Given the description of an element on the screen output the (x, y) to click on. 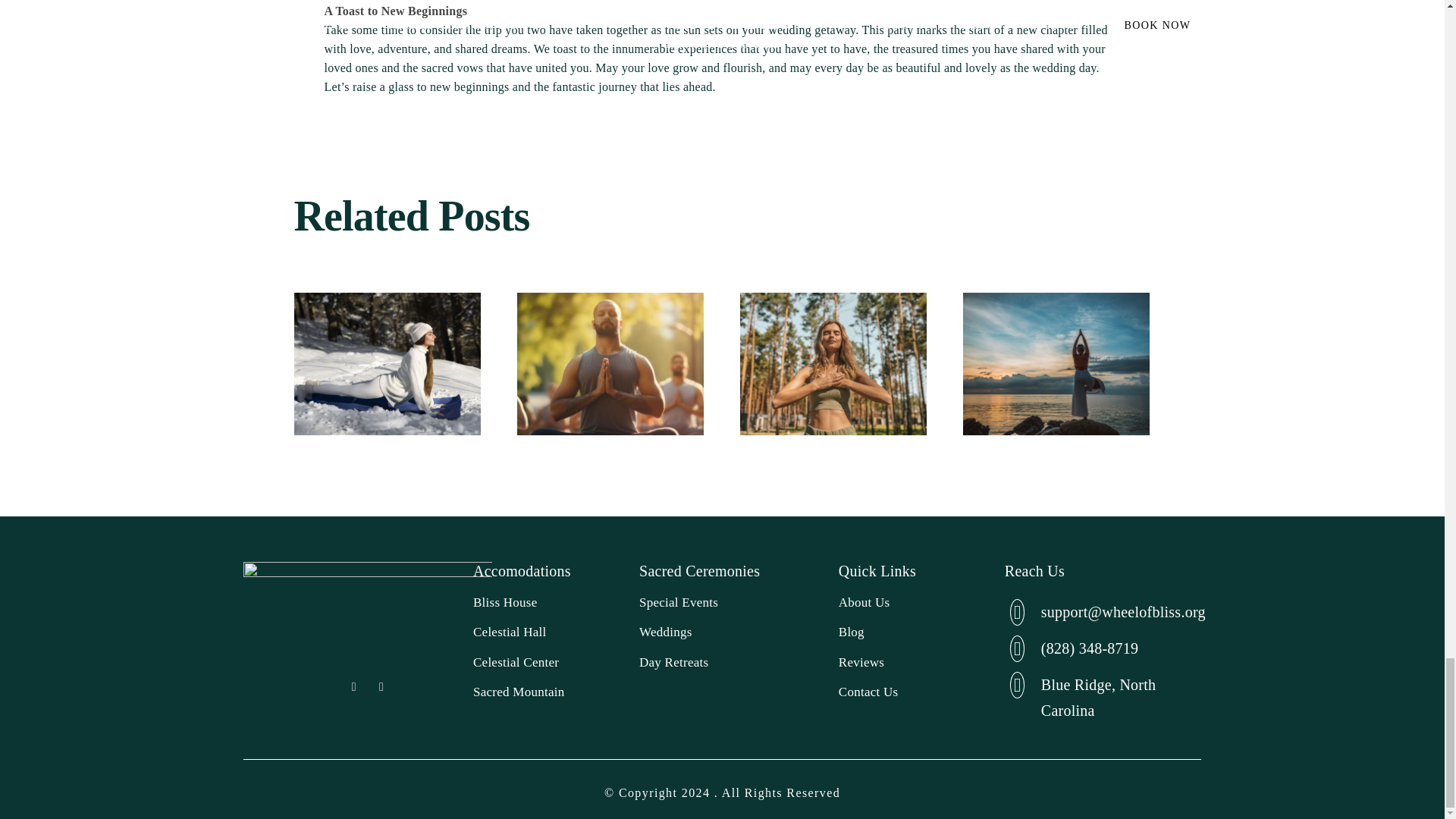
Group 33 (368, 598)
